Given the description of an element on the screen output the (x, y) to click on. 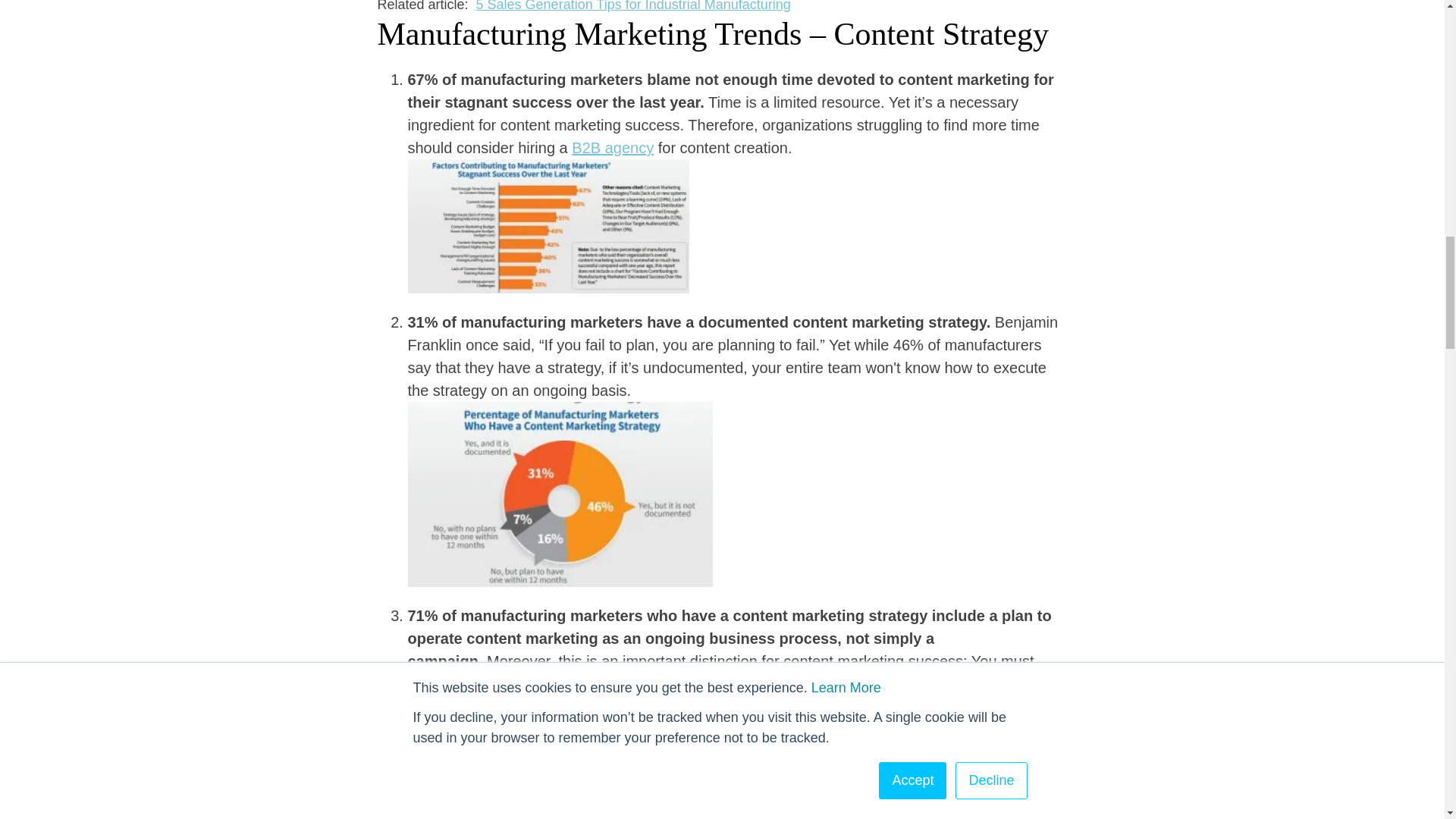
5 Sales Generation Tips for Industrial Manufacturing (633, 6)
B2B agency (612, 147)
